Given the description of an element on the screen output the (x, y) to click on. 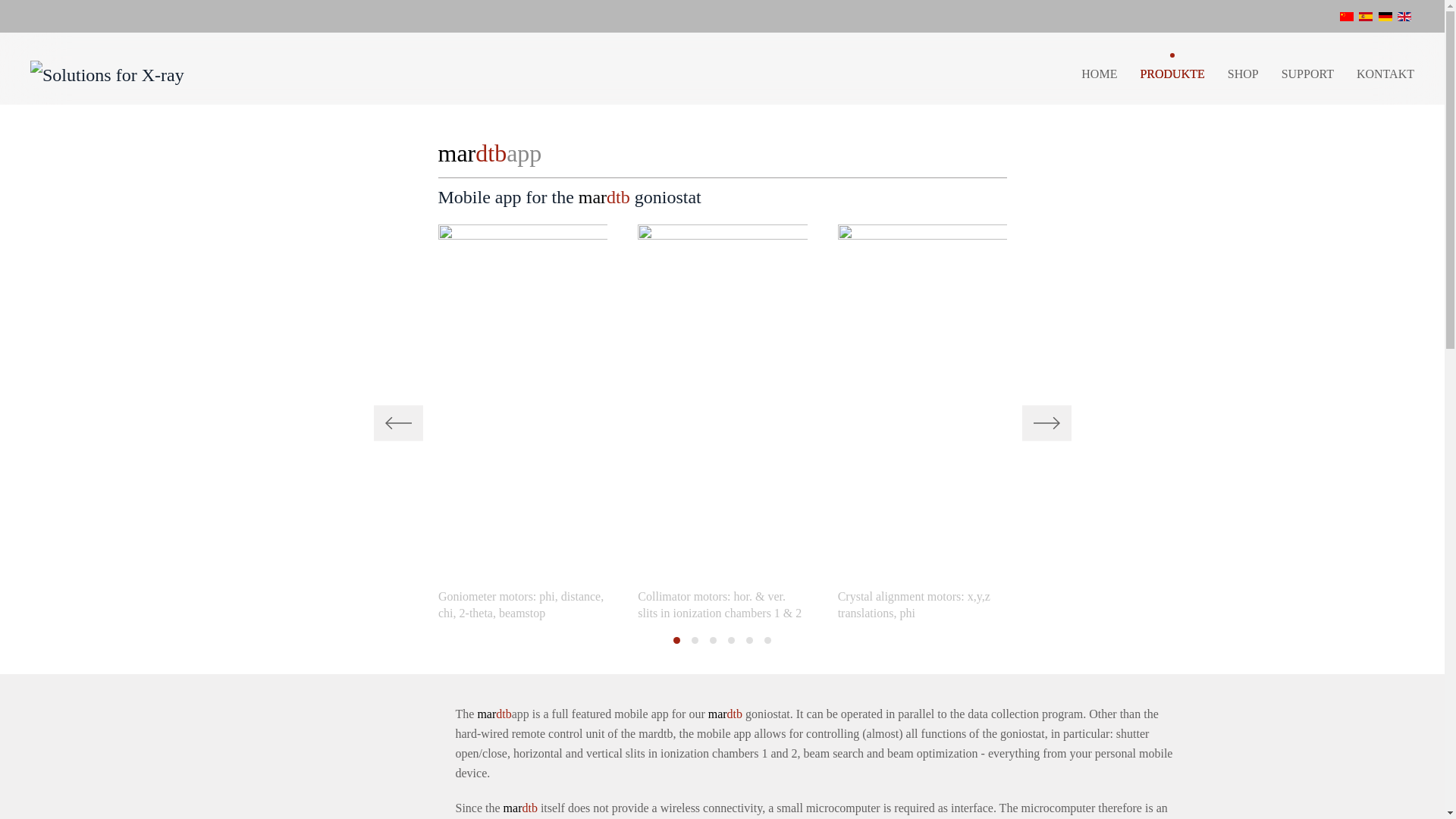
Deutsch (1384, 16)
English (1403, 16)
